Given the description of an element on the screen output the (x, y) to click on. 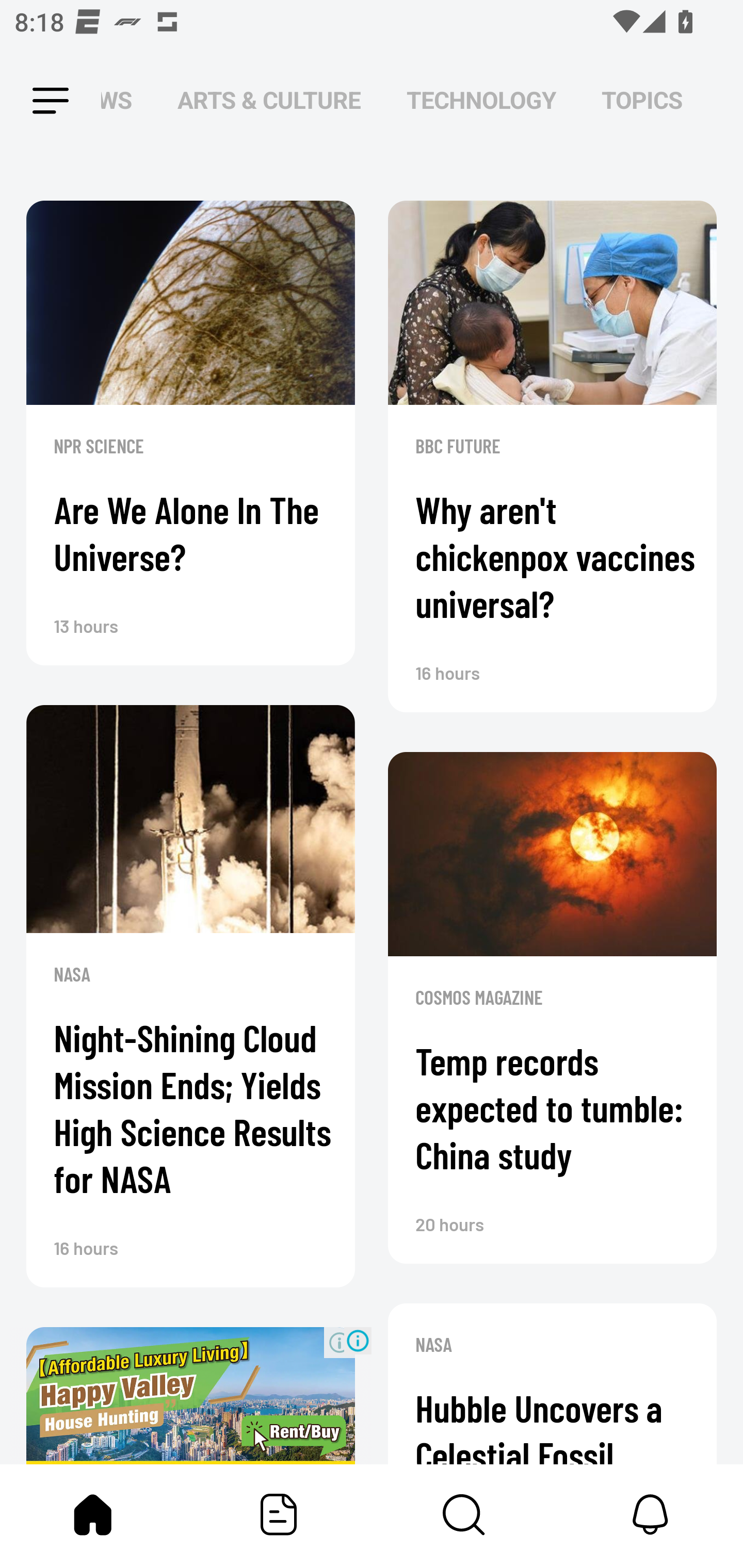
Leading Icon (32, 101)
NEWS (122, 100)
ARTS & CULTURE (269, 100)
TECHNOLOGY (481, 100)
TOPICS (641, 100)
Ad Choices Icon (357, 1340)
Featured (278, 1514)
Content Store (464, 1514)
Notifications (650, 1514)
